Given the description of an element on the screen output the (x, y) to click on. 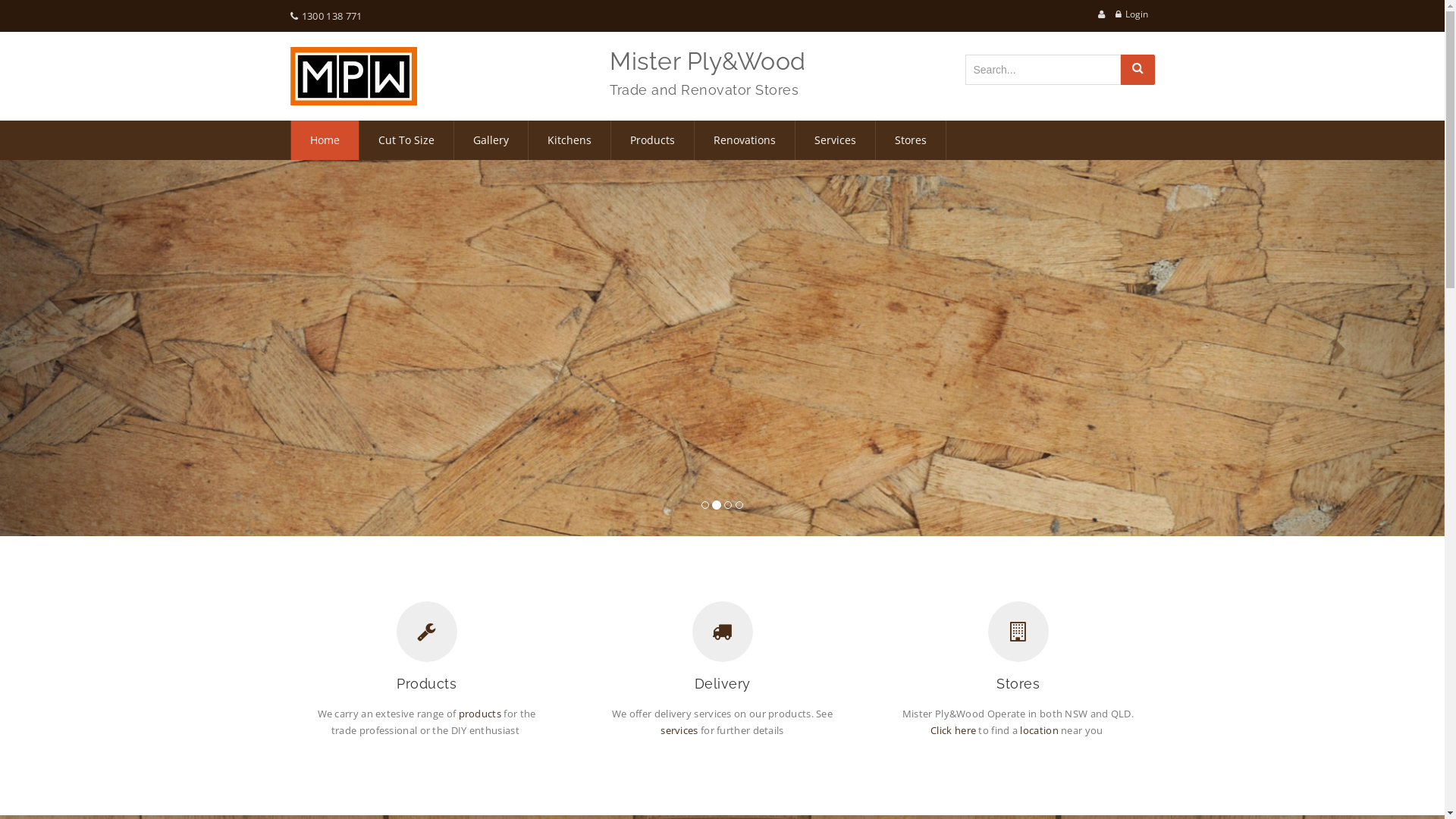
Gallery Element type: text (490, 140)
services Element type: text (678, 730)
Renovations Element type: text (744, 140)
Home Element type: text (324, 140)
Search Element type: text (1137, 69)
products Element type: text (479, 713)
Products Element type: text (652, 140)
Kitchens Element type: text (568, 140)
Stores Element type: text (909, 140)
location Element type: text (1038, 730)
Cut To Size Element type: text (406, 140)
Login Element type: text (1136, 13)
Services Element type: text (834, 140)
Mister Ply Wood Element type: hover (352, 76)
Click here Element type: text (952, 730)
